Given the description of an element on the screen output the (x, y) to click on. 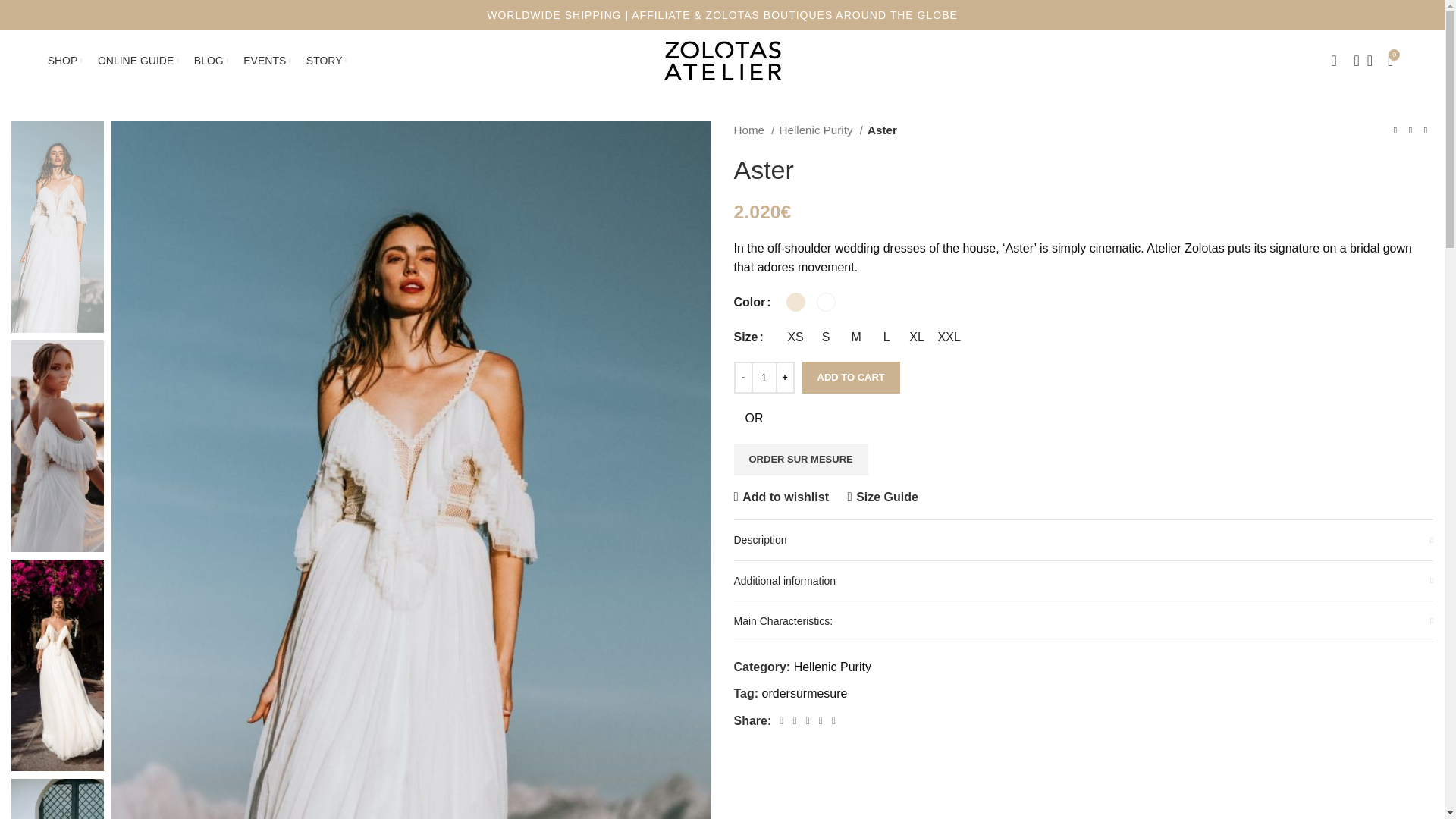
- (742, 377)
BLOG (210, 60)
STORY (326, 60)
SHOP (65, 60)
My Wishlist (1369, 60)
Search (1351, 60)
ONLINE GUIDE (138, 60)
0 (722, 60)
My account (1390, 60)
1 (1333, 60)
Shopping cart (763, 377)
EVENTS (1390, 60)
